Given the description of an element on the screen output the (x, y) to click on. 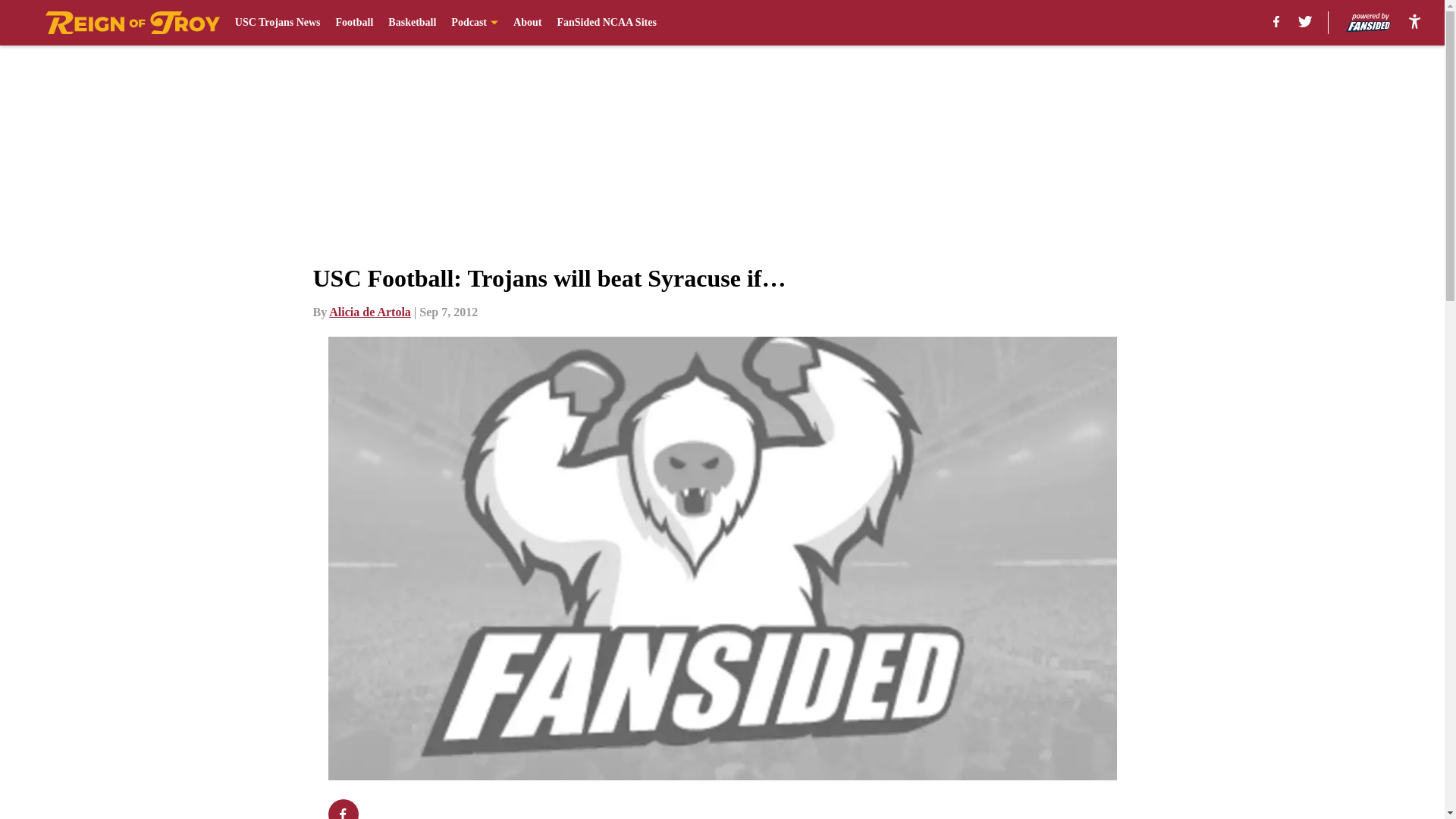
Alicia de Artola (369, 311)
USC Trojans News (277, 22)
FanSided NCAA Sites (606, 22)
About (527, 22)
Basketball (411, 22)
Football (355, 22)
Podcast (474, 22)
